Given the description of an element on the screen output the (x, y) to click on. 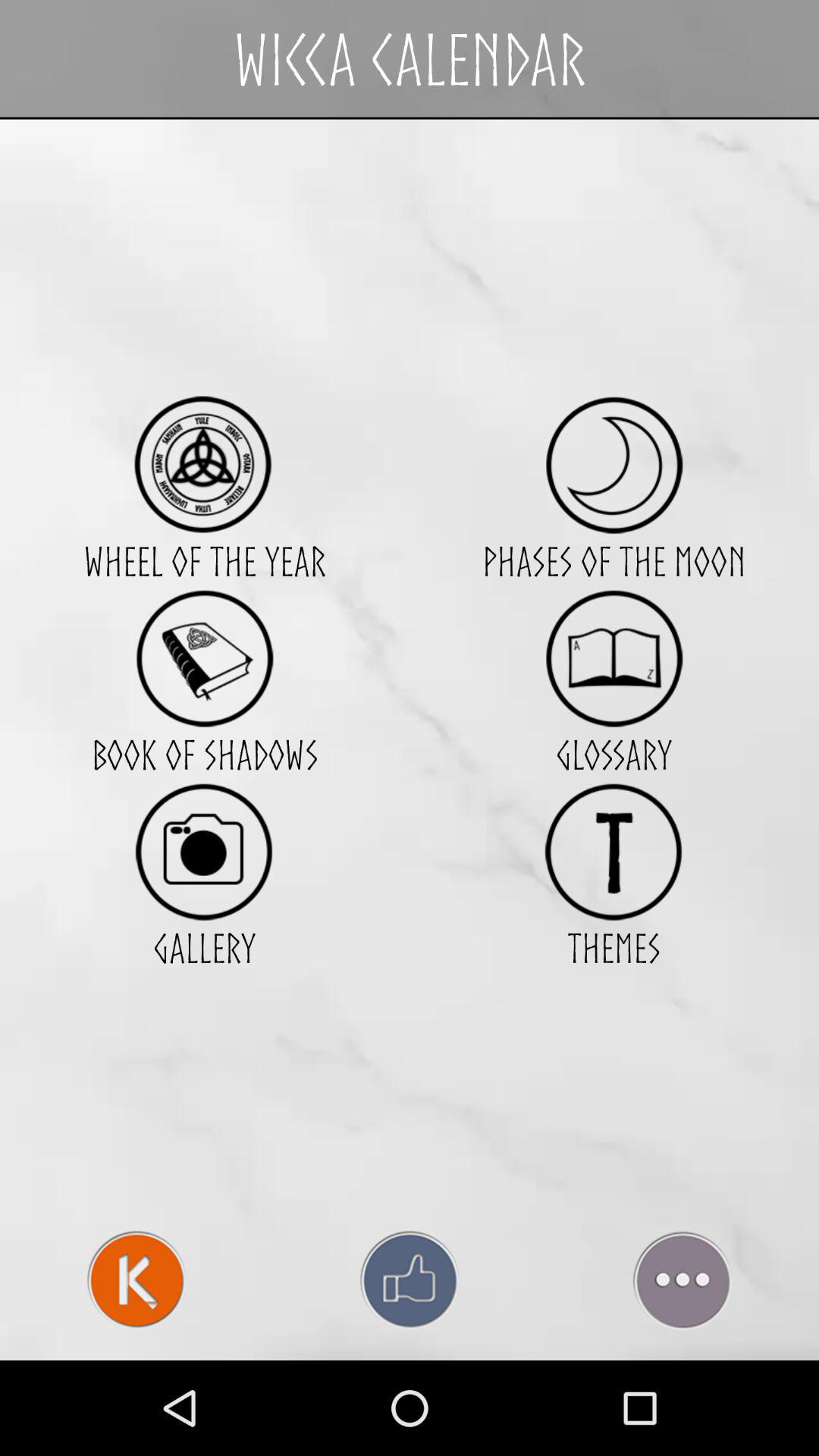
open item to the left of phases of the (204, 658)
